Given the description of an element on the screen output the (x, y) to click on. 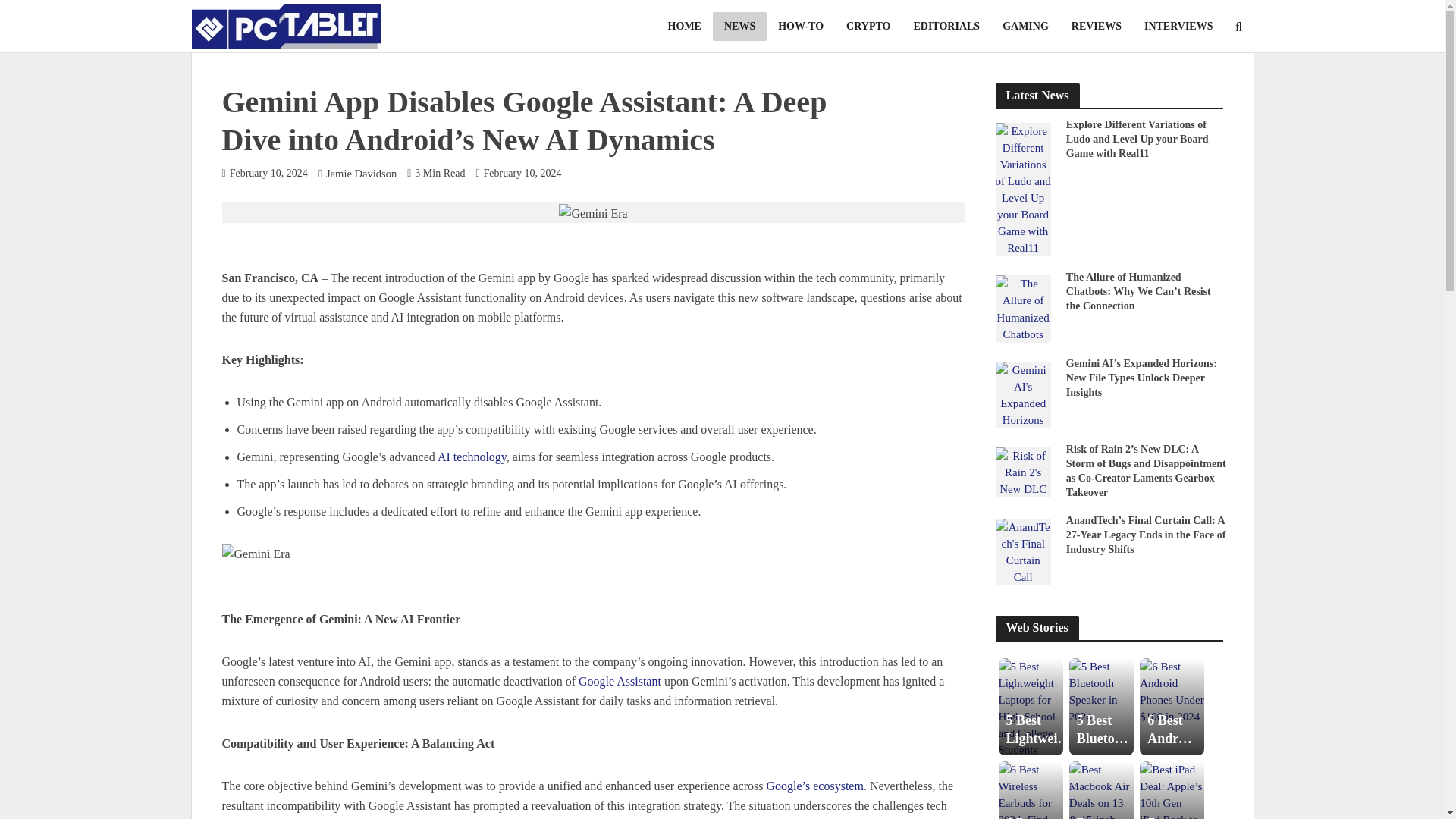
REVIEWS (1095, 26)
AI technology (472, 458)
EDITORIALS (946, 26)
INTERVIEWS (1178, 26)
Google Assistant (619, 682)
Jamie Davidson (361, 174)
HOME (684, 26)
